Given the description of an element on the screen output the (x, y) to click on. 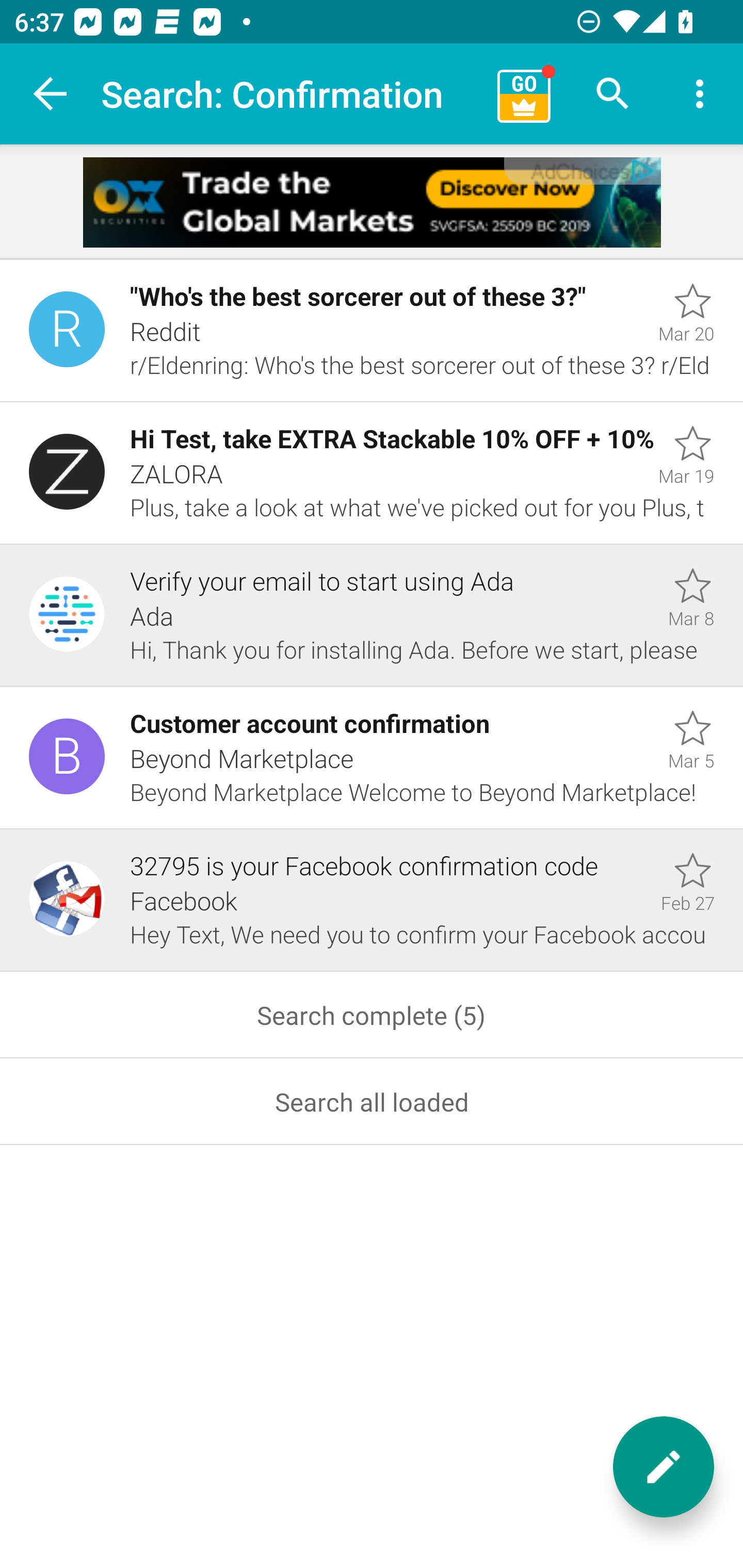
Navigate up (50, 93)
Search (612, 93)
More options (699, 93)
Search complete (5) (371, 1015)
Search all loaded (371, 1101)
New message (663, 1466)
